Given the description of an element on the screen output the (x, y) to click on. 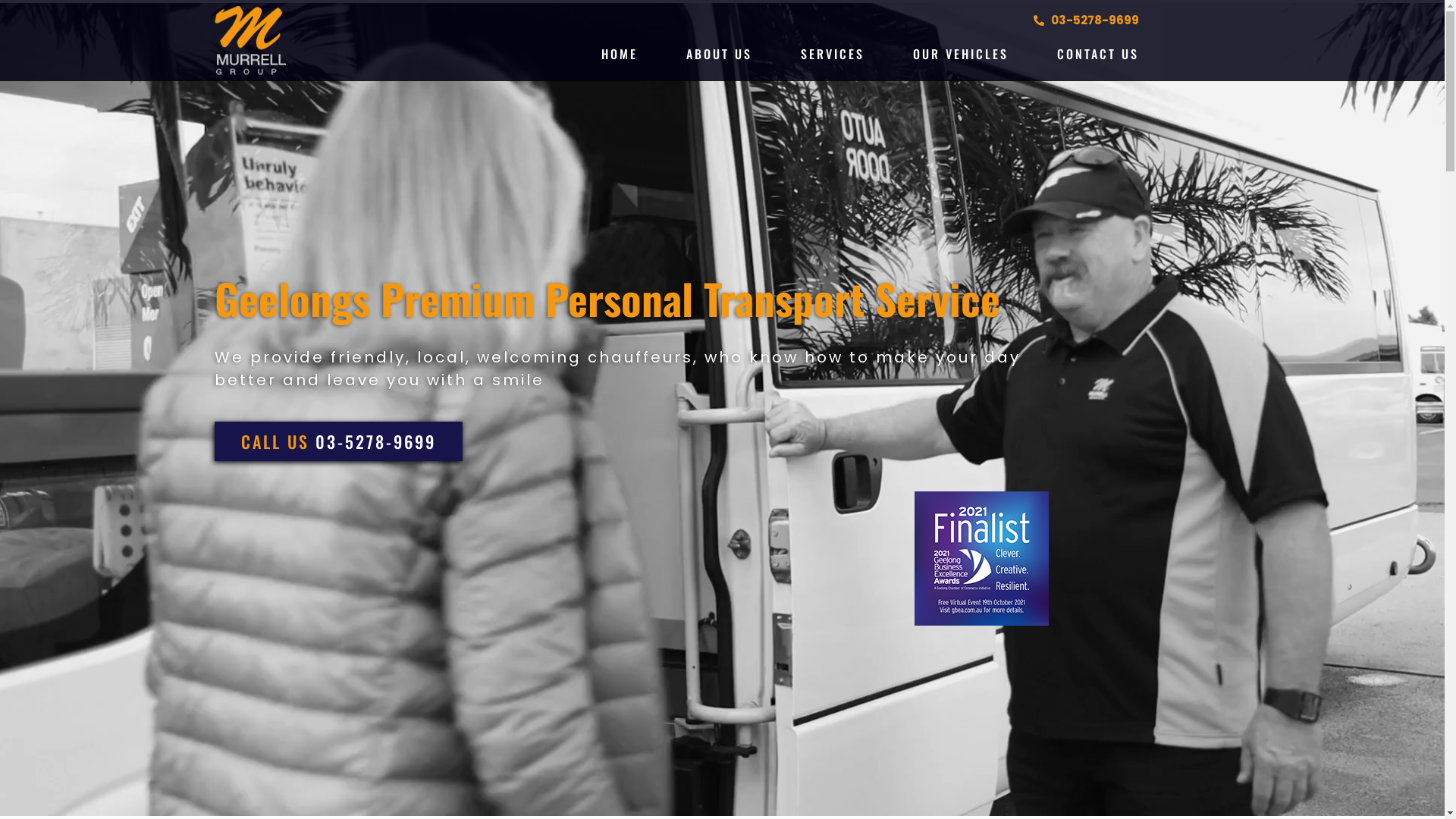
CALL US 03-5278-9699 Element type: text (337, 441)
ABOUT US Element type: text (719, 53)
CONTACT US Element type: text (1097, 53)
SERVICES Element type: text (832, 53)
HOME Element type: text (619, 53)
03-5278-9699 Element type: text (789, 20)
OUR VEHICLES Element type: text (960, 53)
